Given the description of an element on the screen output the (x, y) to click on. 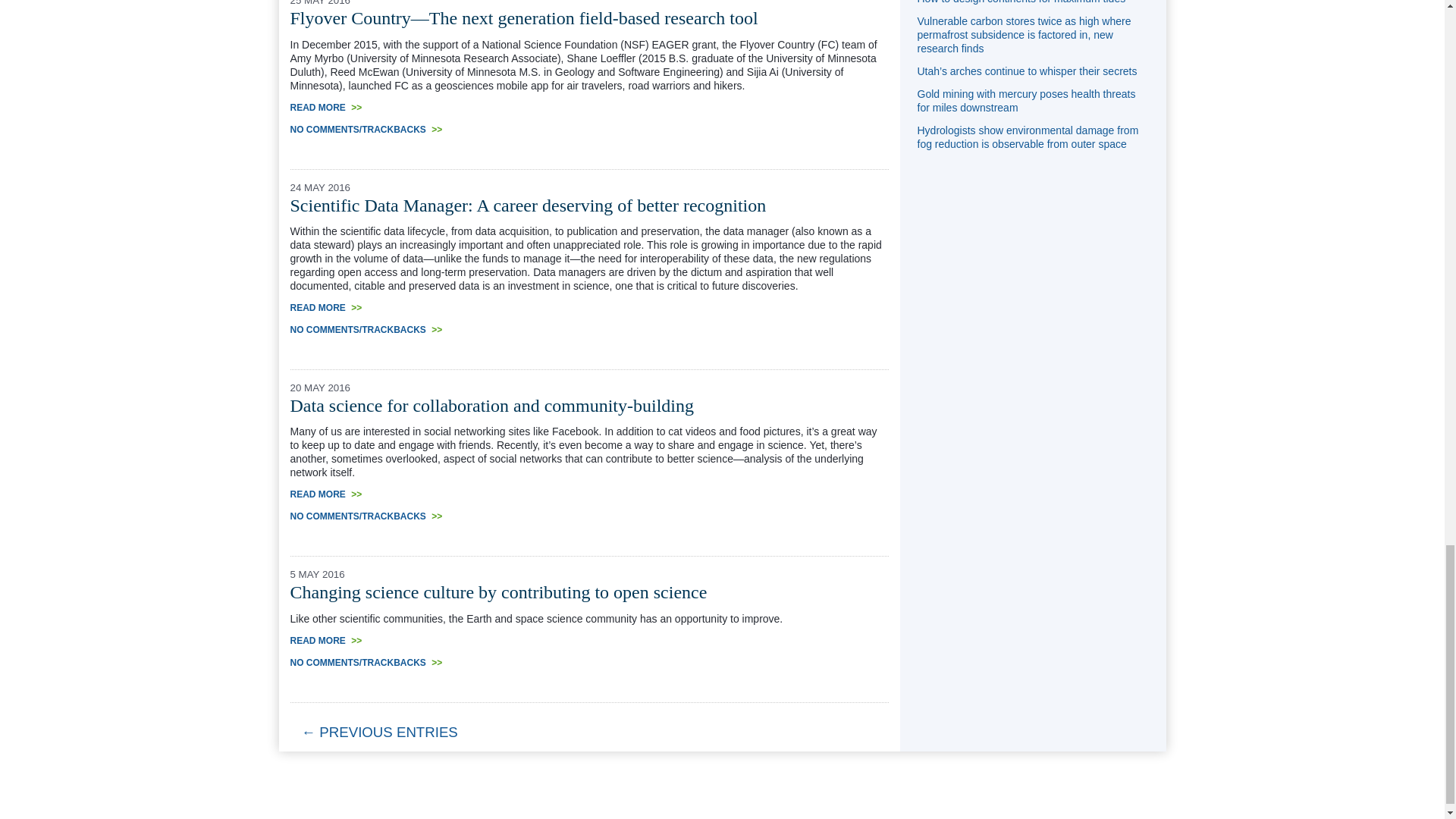
Data science for collaboration and community-building (491, 405)
Changing science culture by contributing to open science (497, 591)
